Given the description of an element on the screen output the (x, y) to click on. 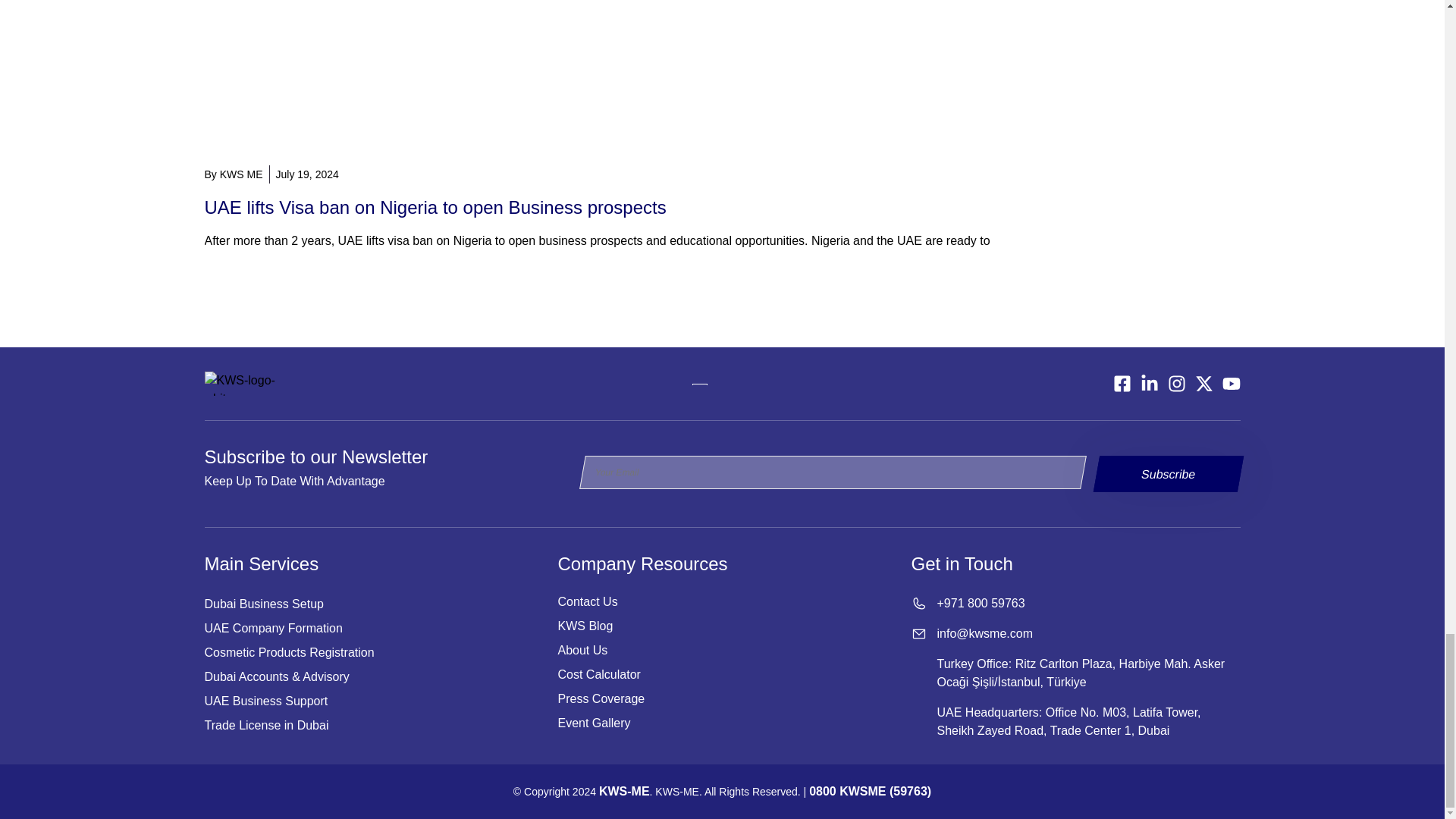
Subscribe (1164, 473)
KWS-logo-white (245, 383)
